Given the description of an element on the screen output the (x, y) to click on. 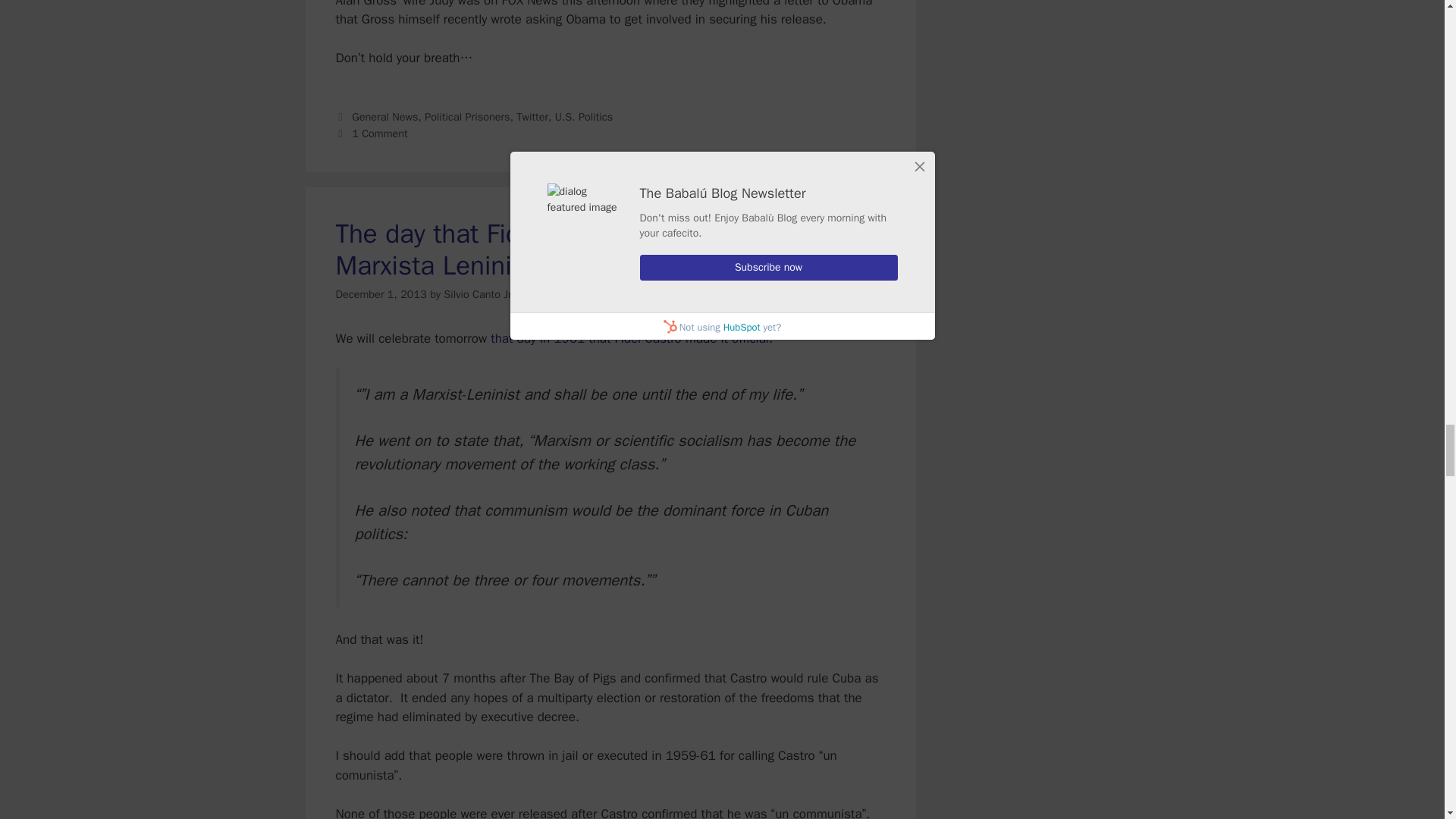
View all posts by Silvio Canto Jr. (479, 294)
